Given the description of an element on the screen output the (x, y) to click on. 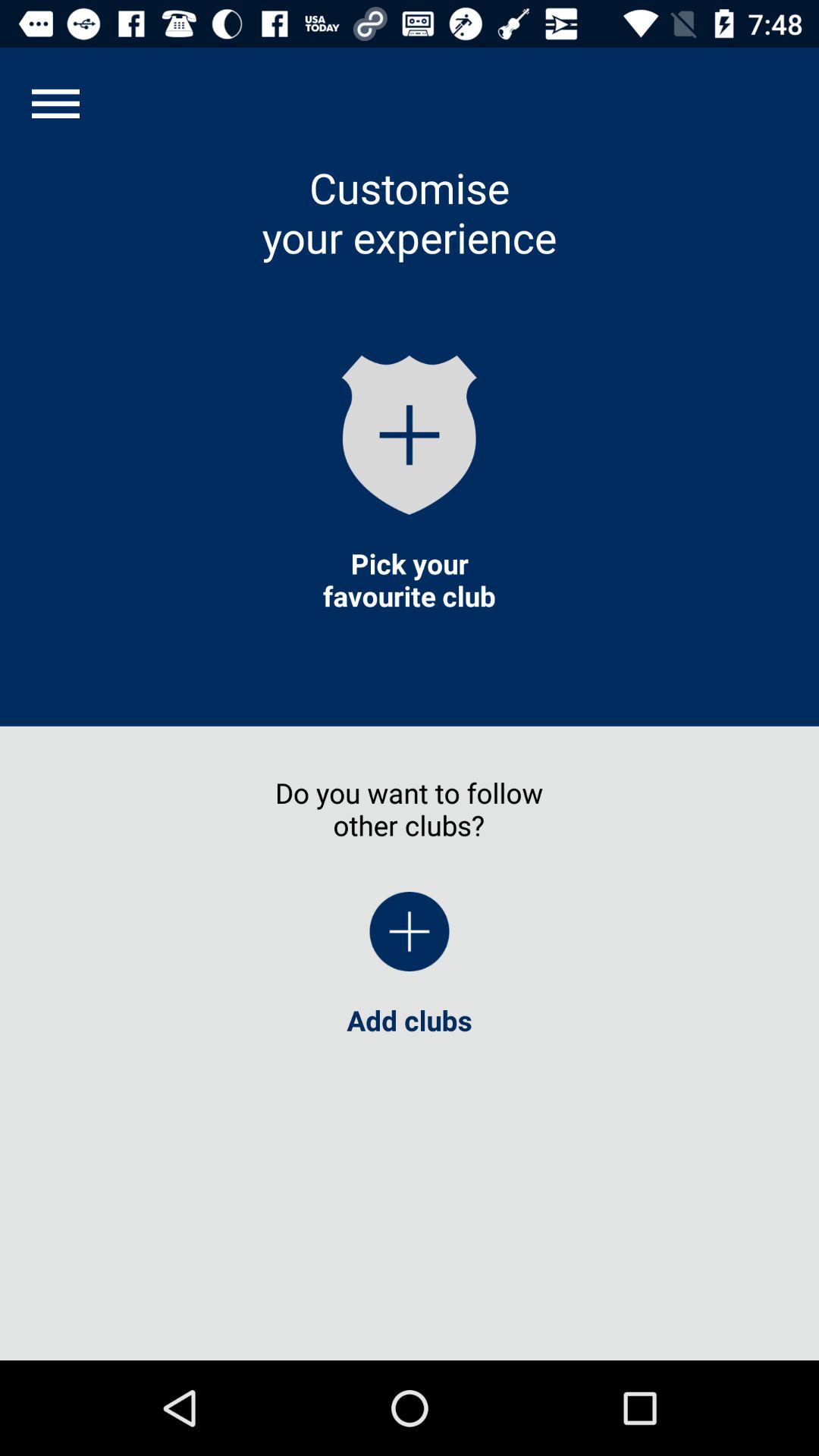
open the item below customise
your experience (409, 434)
